Given the description of an element on the screen output the (x, y) to click on. 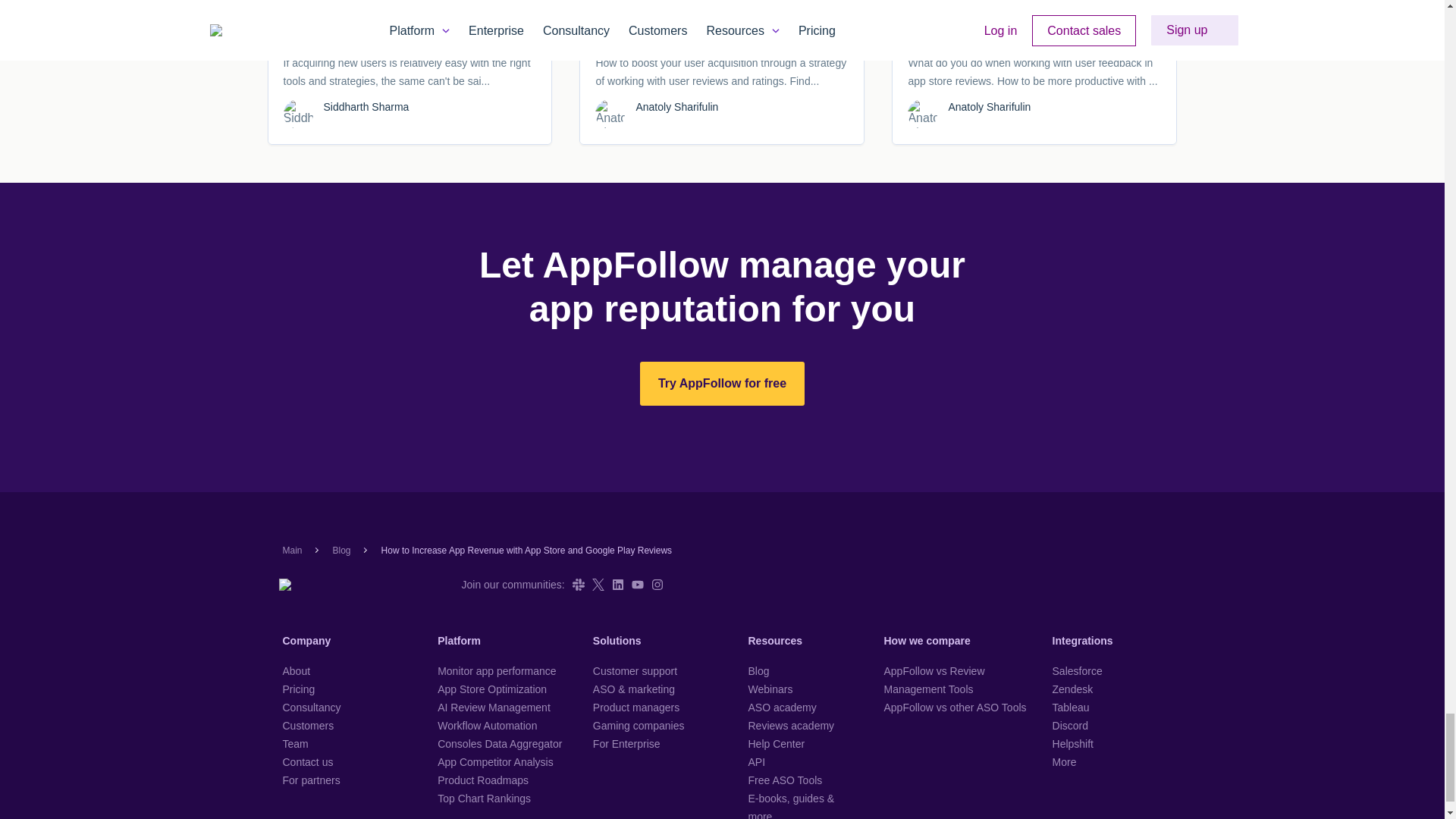
LinkedIn (617, 584)
YouTube (637, 584)
Instagram (656, 584)
Blog (341, 550)
Twitter (598, 584)
Main (291, 550)
Slack (578, 584)
